Given the description of an element on the screen output the (x, y) to click on. 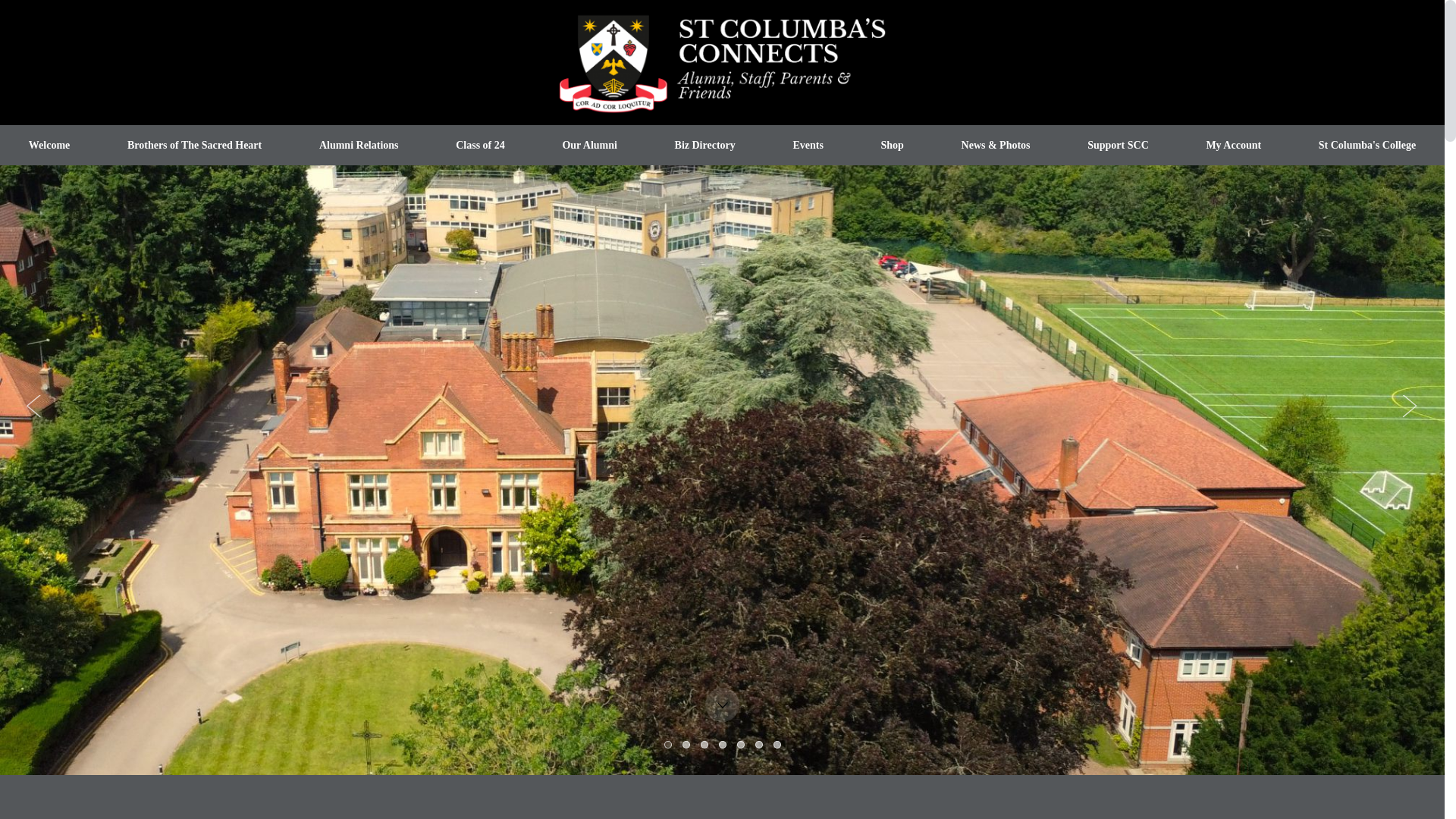
Alumni Relations (357, 145)
Shop (892, 145)
Brothers of The Sacred Heart (194, 145)
Events (807, 145)
Welcome (49, 145)
My Account (1233, 145)
Previous (34, 405)
Our Alumni (590, 145)
Support SCC (1117, 145)
Class of 24 (479, 145)
